Given the description of an element on the screen output the (x, y) to click on. 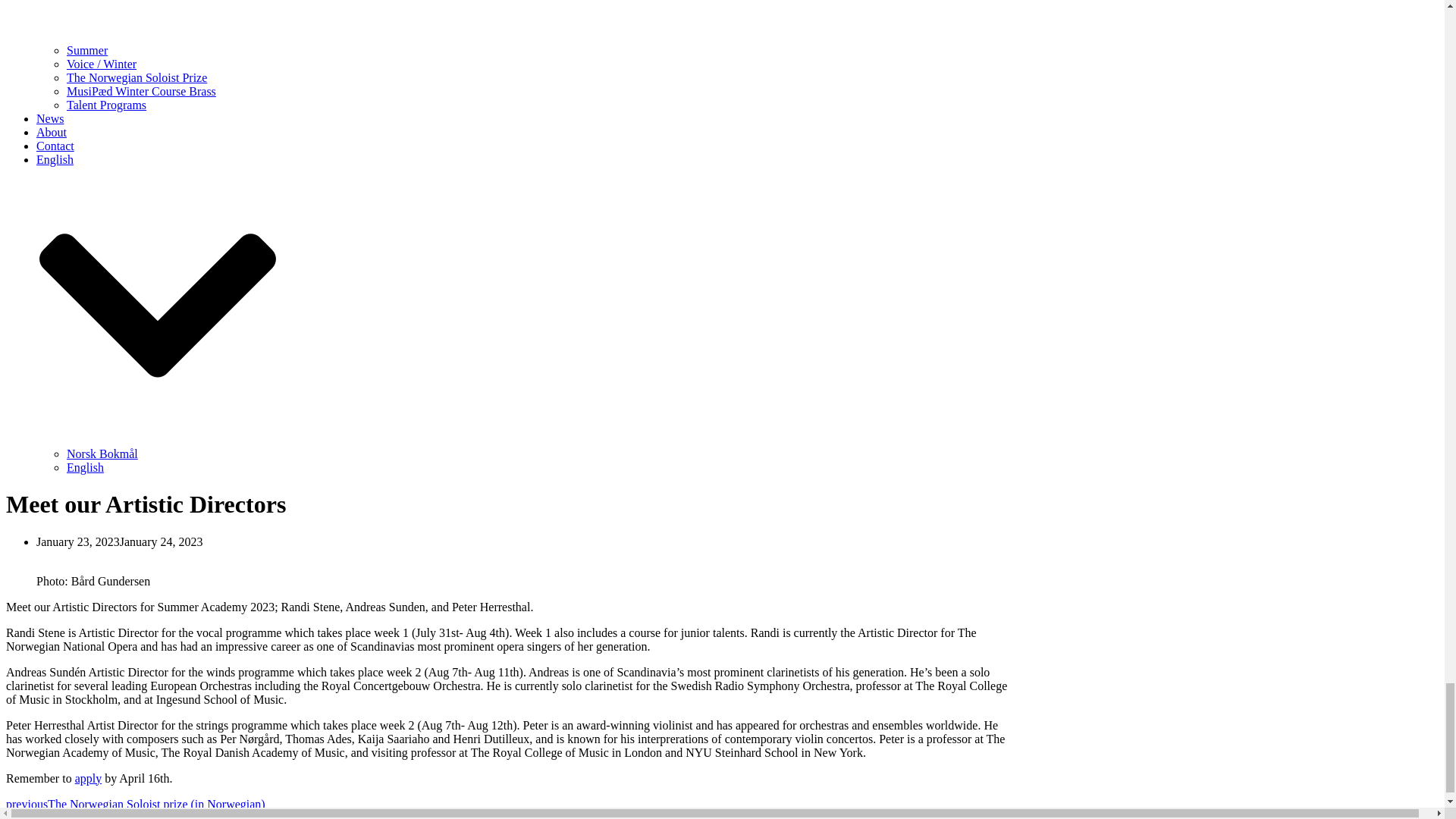
Talent Programs (106, 104)
About (51, 132)
Academies (157, 22)
apply (88, 778)
News (50, 118)
Contact (55, 145)
The Norwegian Soloist Prize (136, 77)
English (84, 467)
Summer (86, 50)
